Given the description of an element on the screen output the (x, y) to click on. 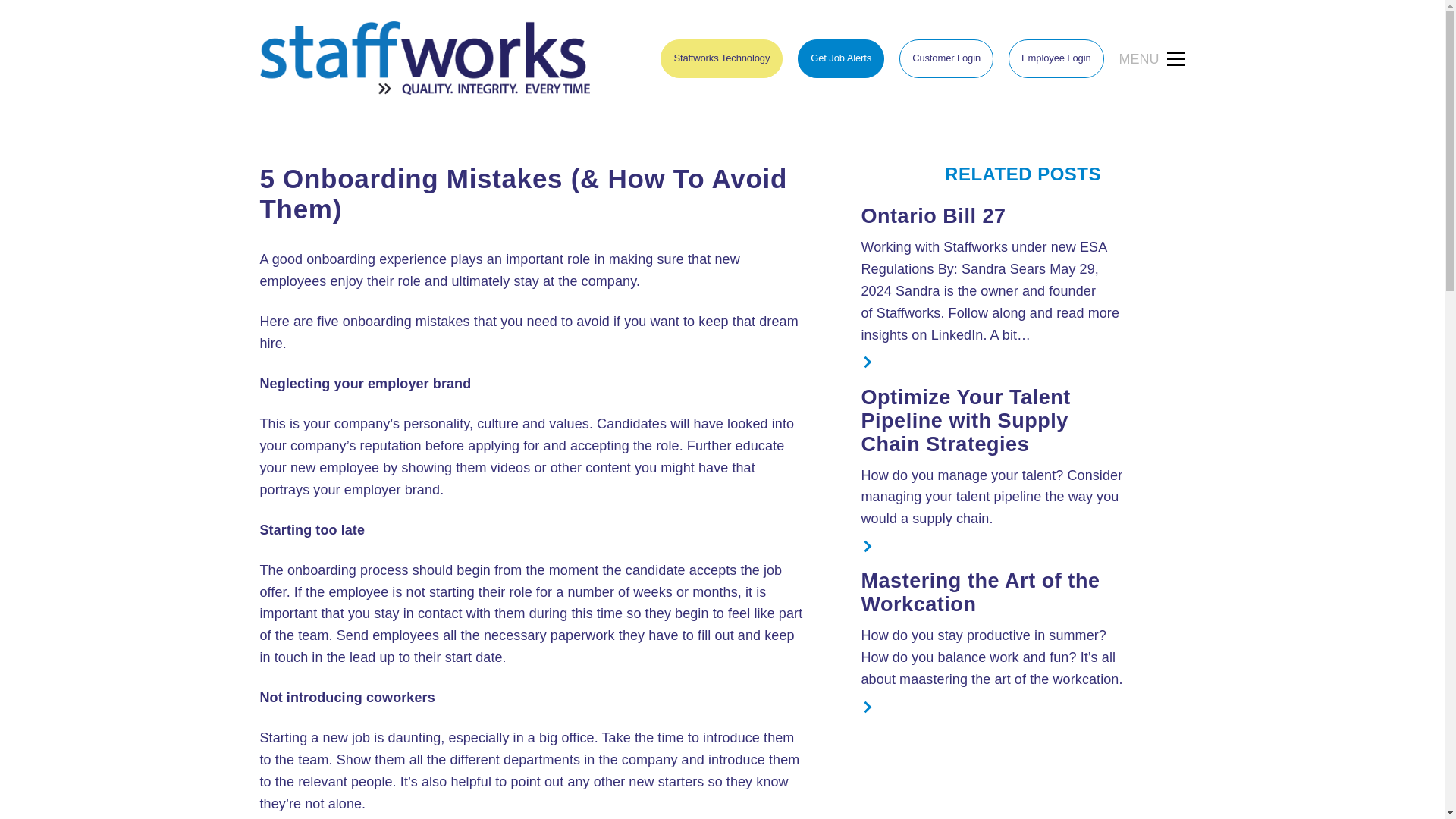
Staffworks Technology (722, 58)
Get Job Alerts (840, 58)
MENU (1152, 58)
Employee Login (1056, 58)
Customer Login (945, 58)
